Given the description of an element on the screen output the (x, y) to click on. 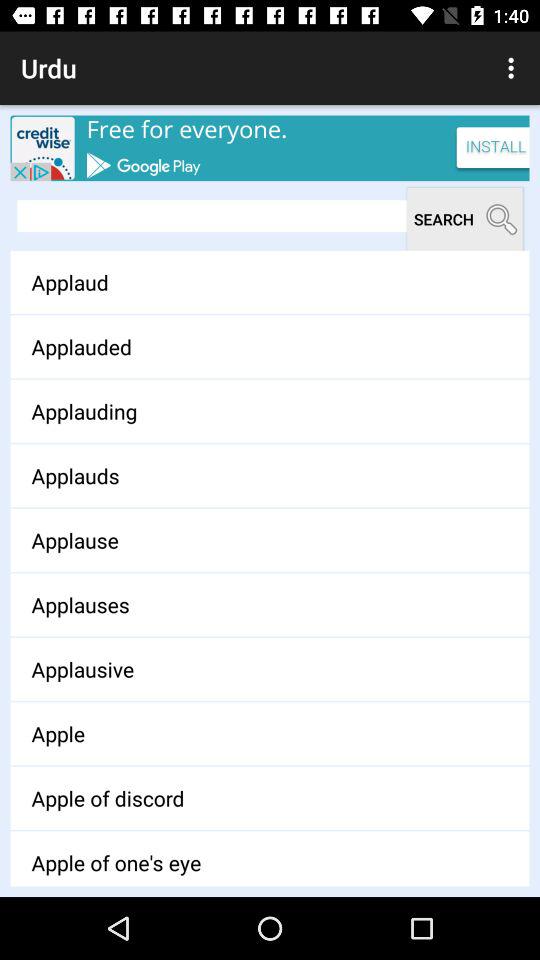
advertisement (270, 148)
